Given the description of an element on the screen output the (x, y) to click on. 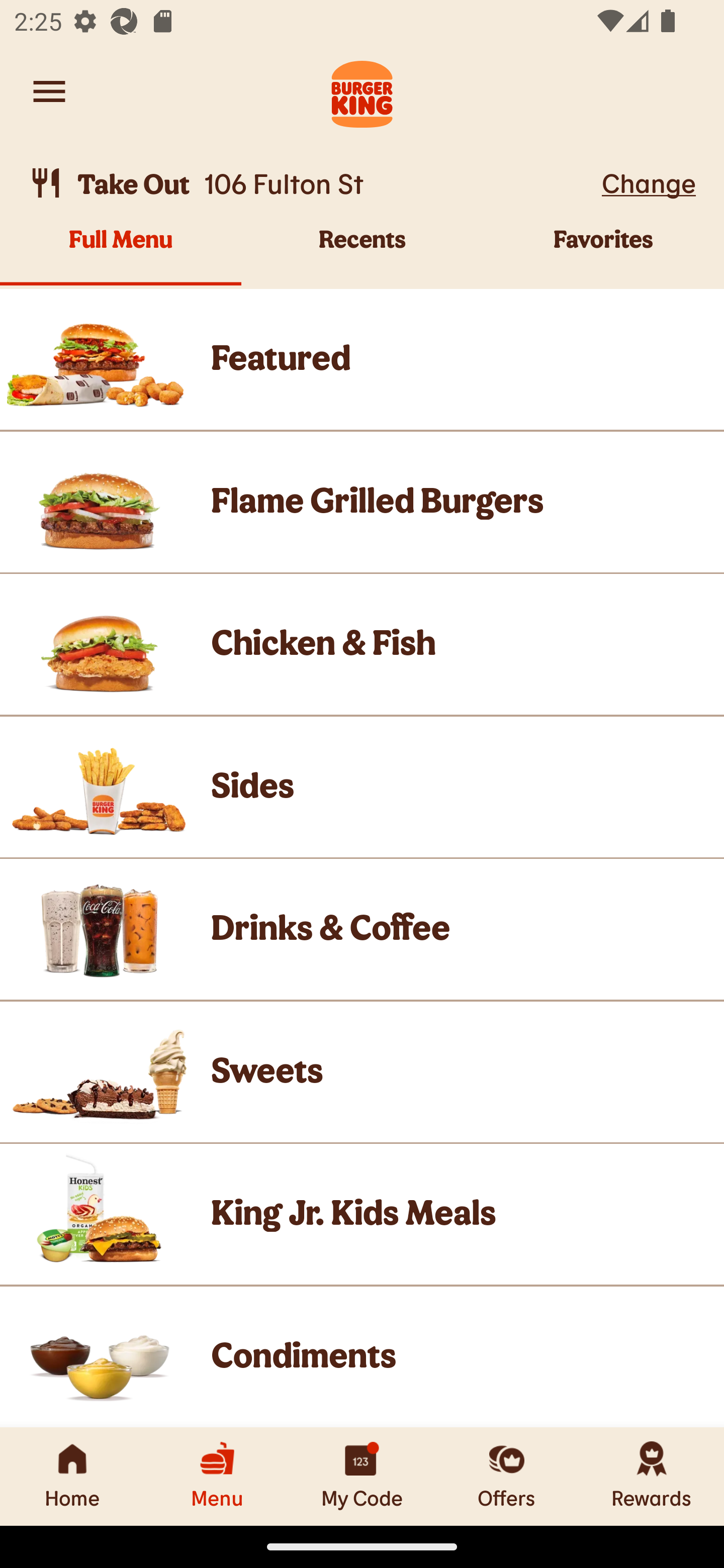
Burger King Logo. Navigate to Home (362, 91)
Navigate to account menu  (49, 91)
Take Out, 106 Fulton St  Take Out 106 Fulton St (311, 183)
Change (648, 182)
Full Menu (120, 255)
Recents (361, 255)
Favorites (603, 255)
Product Image, Featured Product Image Featured (362, 358)
Product Image, Sides Product Image Sides (362, 786)
Product Image, Sweets Product Image Sweets (362, 1072)
Product Image, Condiments Product Image Condiments (362, 1356)
Home (72, 1475)
Menu (216, 1475)
My Code (361, 1475)
Offers (506, 1475)
Rewards (651, 1475)
